Given the description of an element on the screen output the (x, y) to click on. 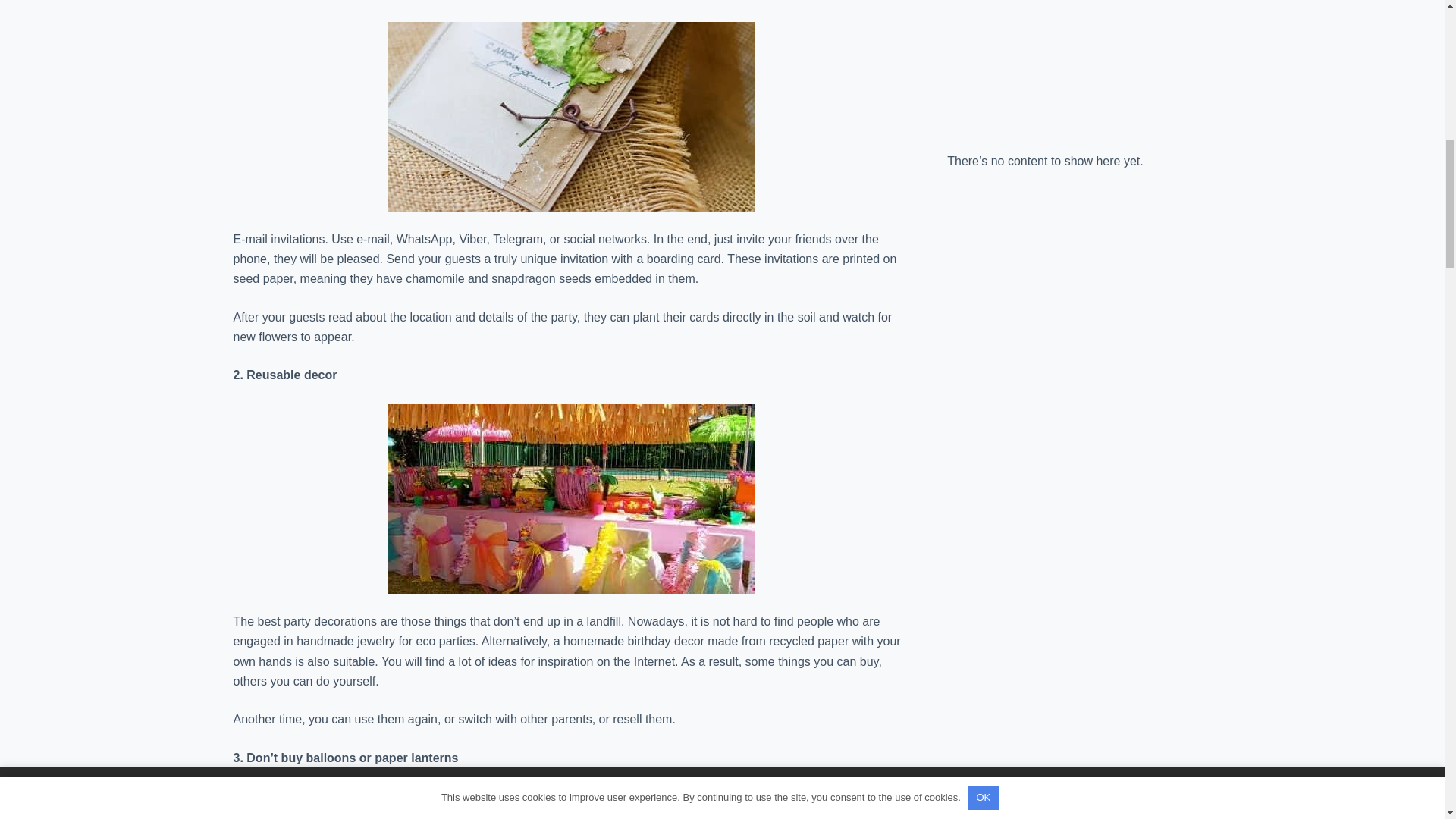
Eco birthday invitations (570, 115)
Reusable decor (570, 498)
Don't buy balloons or paper lanterns (570, 795)
